Given the description of an element on the screen output the (x, y) to click on. 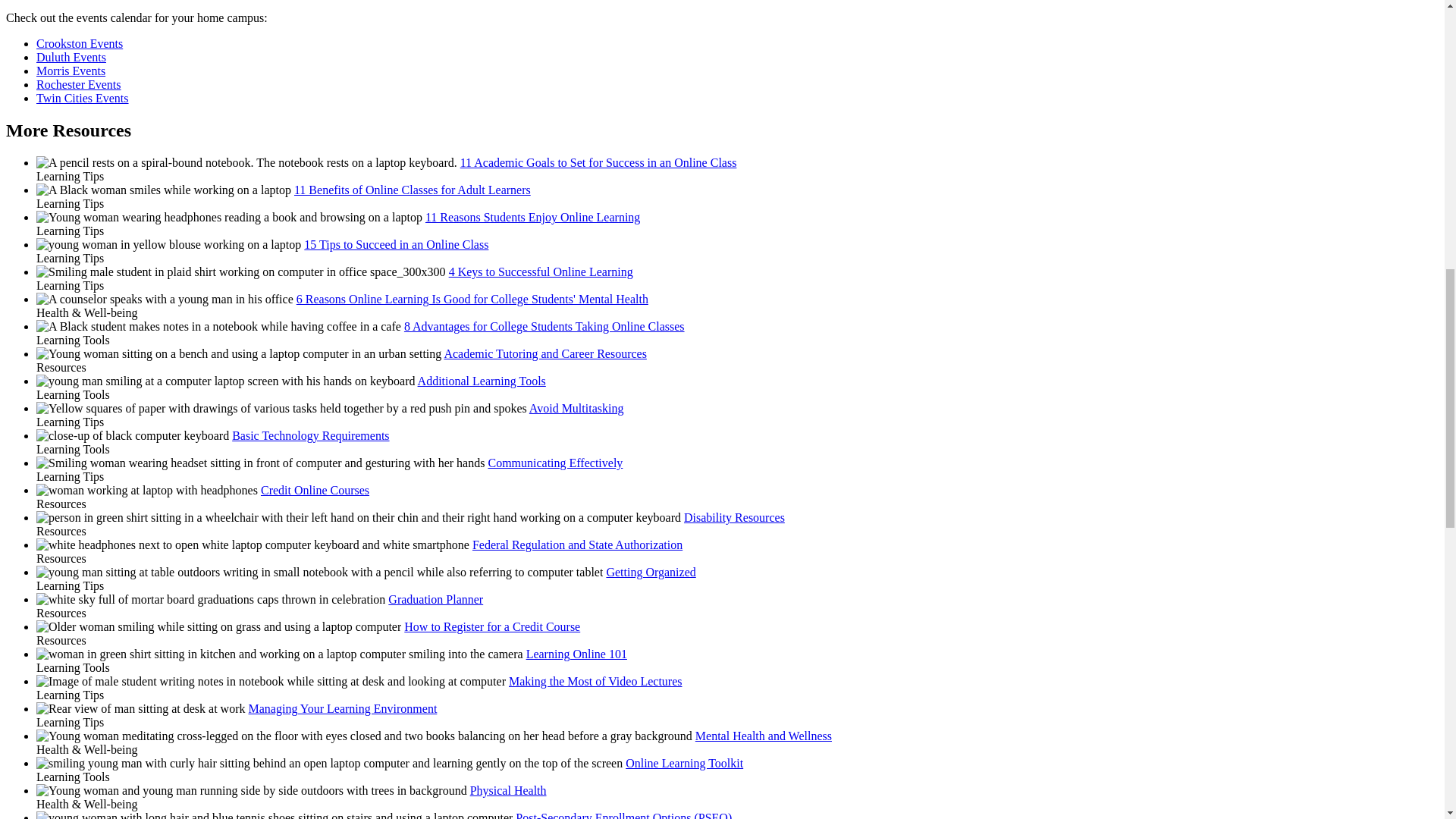
Crookston Events (79, 42)
Morris Events (70, 70)
Duluth Events (71, 56)
